Given the description of an element on the screen output the (x, y) to click on. 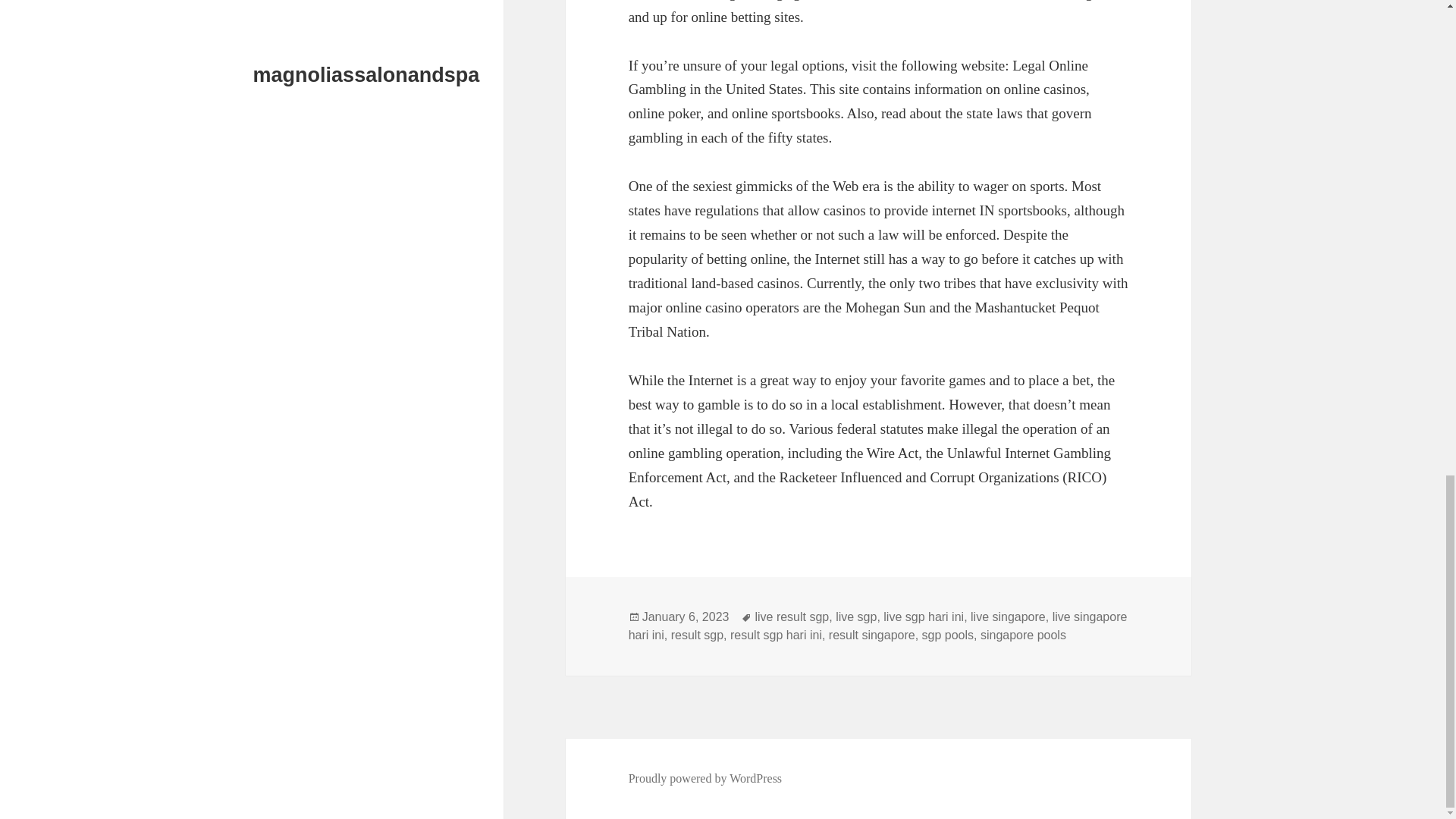
sgp pools (947, 635)
result sgp (697, 635)
live sgp hari ini (923, 617)
result sgp hari ini (776, 635)
singapore pools (1022, 635)
live result sgp (791, 617)
Proudly powered by WordPress (704, 778)
live singapore hari ini (877, 626)
result singapore (871, 635)
January 6, 2023 (685, 617)
live sgp (855, 617)
live singapore (1008, 617)
